Given the description of an element on the screen output the (x, y) to click on. 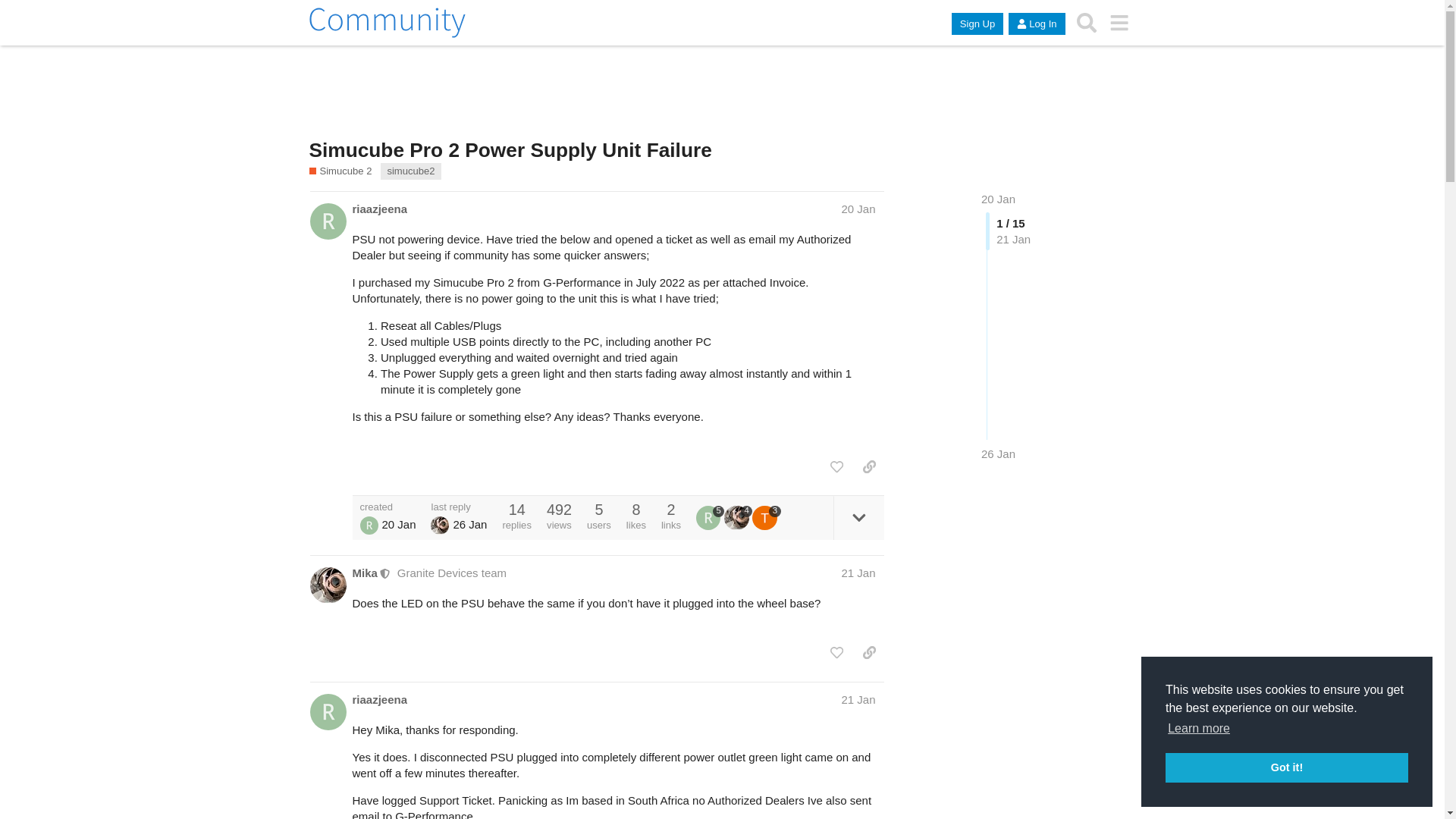
20 Jan 2024 22:39 (397, 523)
Mika Takala (439, 525)
share a link to this post (869, 466)
riaazjeena (379, 208)
menu (1119, 22)
21 Jan (858, 572)
20 Jan (997, 198)
3 (766, 517)
Got it! (1286, 767)
like this post (836, 466)
26 Jan 2024 19:38 (469, 523)
20 Jan (858, 208)
26 Jan 2024 19:38 (997, 453)
last reply (458, 506)
